Given the description of an element on the screen output the (x, y) to click on. 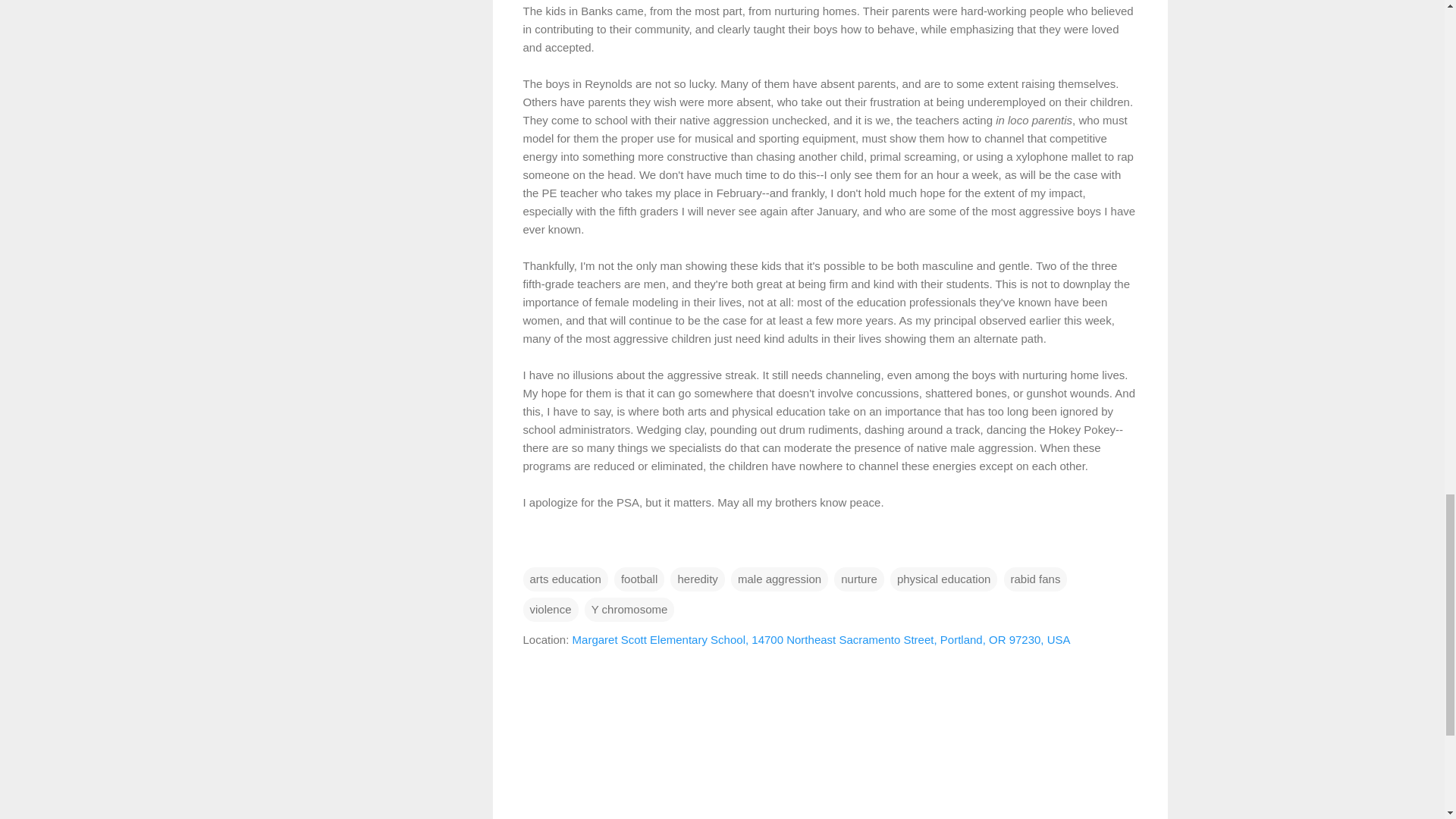
rabid fans (1035, 579)
nurture (858, 579)
physical education (943, 579)
Y chromosome (630, 609)
football (638, 579)
violence (550, 609)
heredity (696, 579)
arts education (565, 579)
male aggression (779, 579)
